Given the description of an element on the screen output the (x, y) to click on. 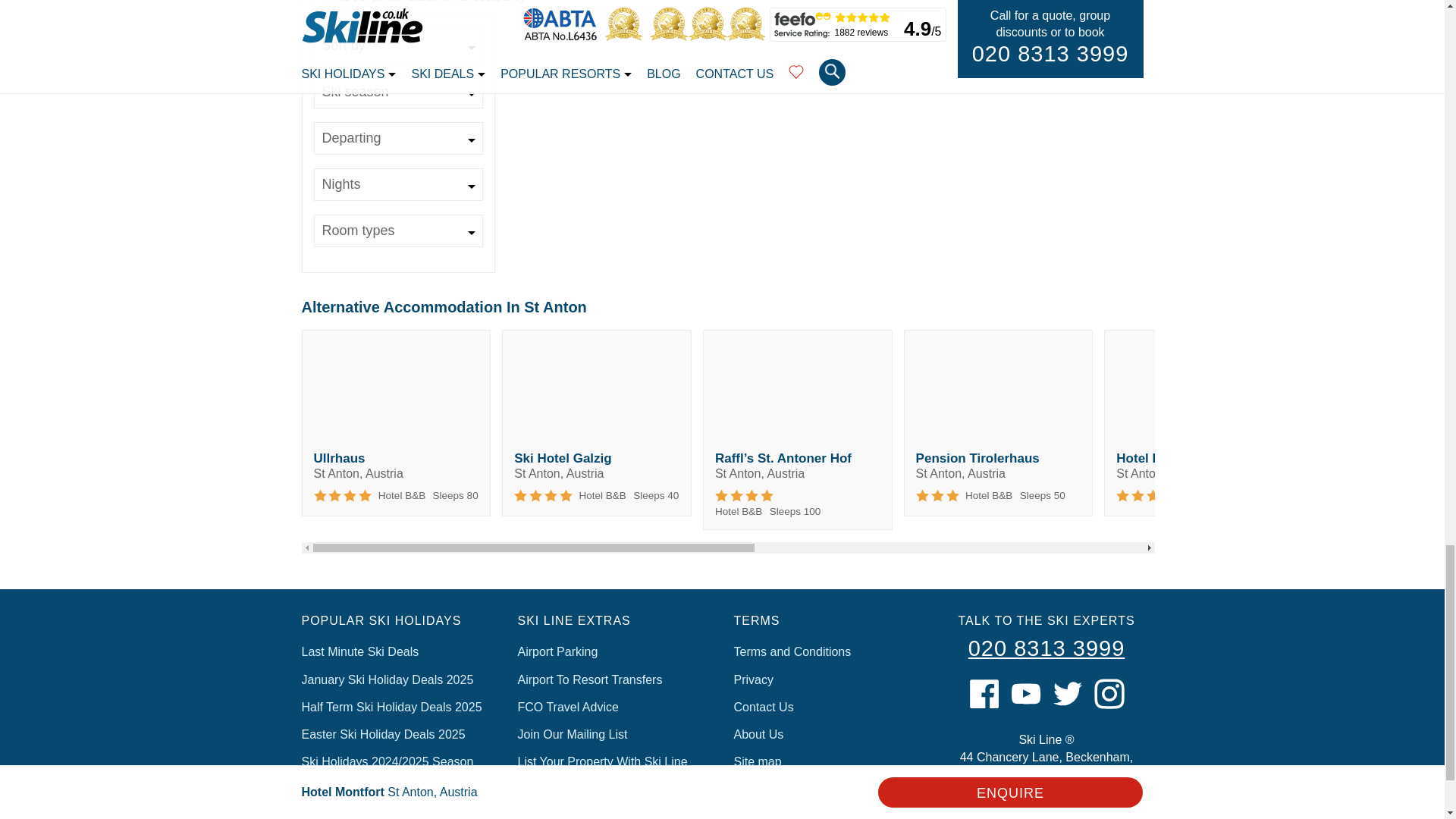
Visit us on instagram (1108, 693)
Visit us on youtube (1025, 693)
Visit us on twitter (1067, 693)
Visit us on facebook (983, 693)
